Given the description of an element on the screen output the (x, y) to click on. 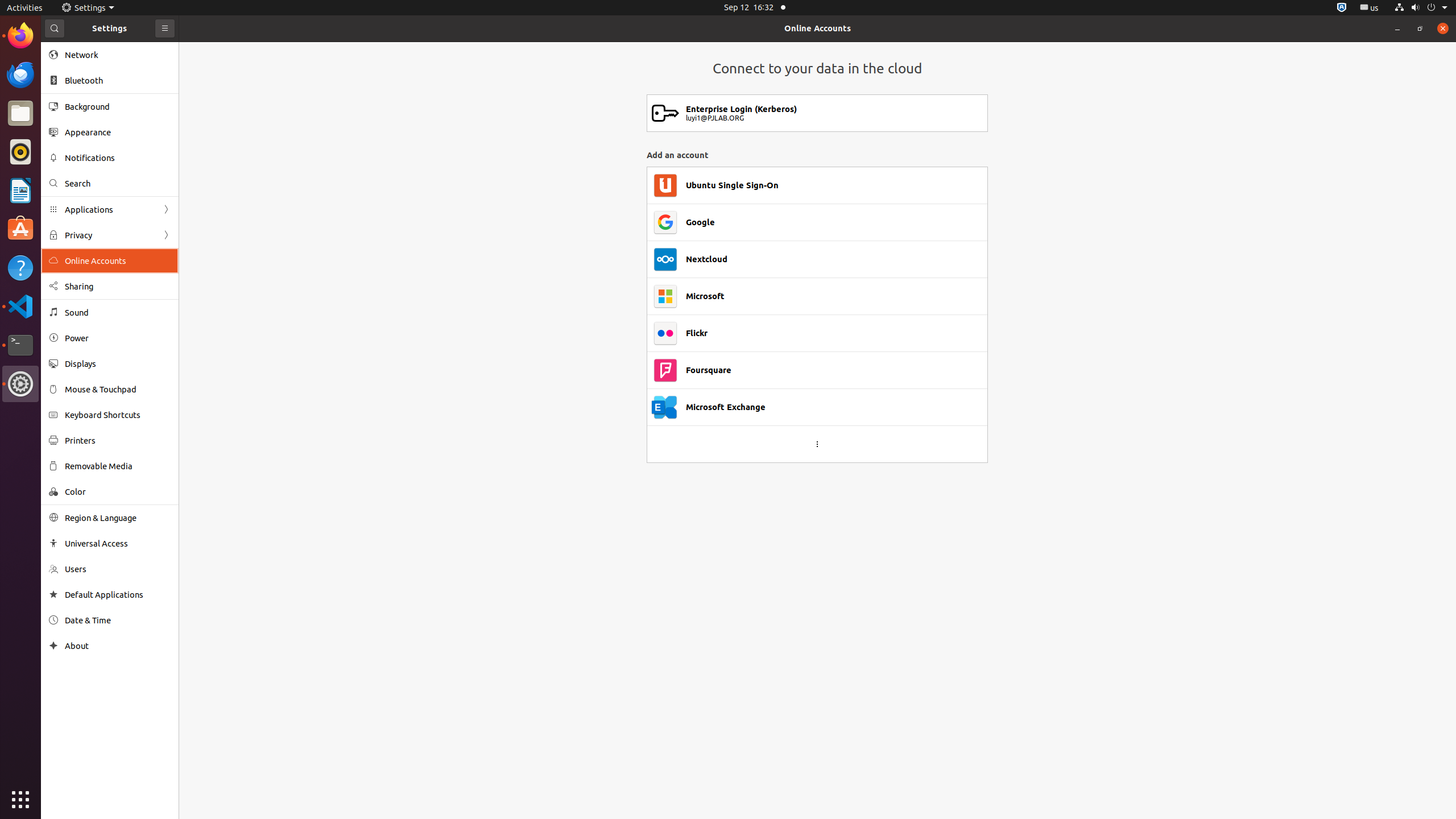
Primary Menu Element type: toggle-button (164, 28)
Terminal Element type: push-button (20, 344)
Sharing Element type: label (117, 286)
Microsoft Element type: label (704, 296)
